Given the description of an element on the screen output the (x, y) to click on. 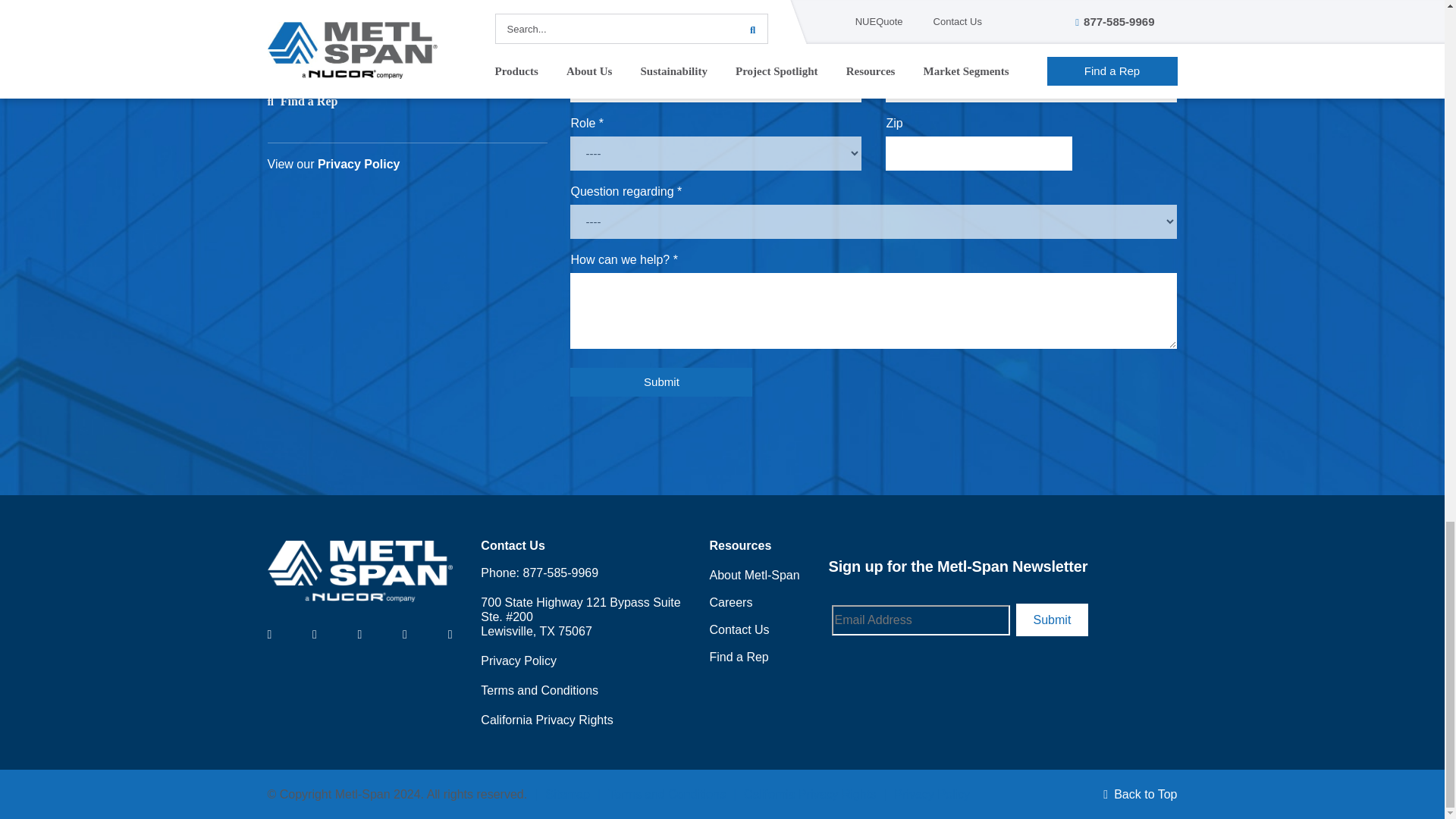
Submit (661, 381)
Submit (1052, 619)
